Given the description of an element on the screen output the (x, y) to click on. 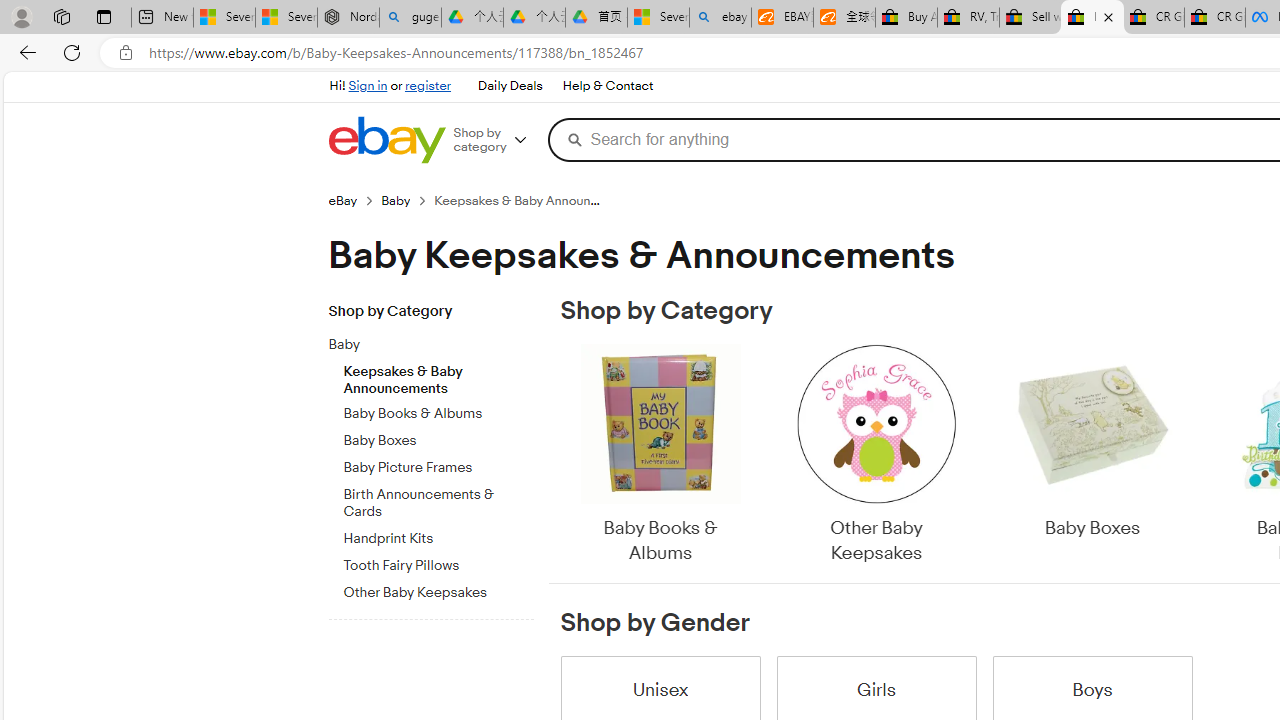
Shop by category (496, 140)
Birth Announcements & Cards (438, 500)
Help & Contact (607, 86)
eBay Home (386, 139)
Baby Keepsakes & Announcements for sale | eBay (1092, 17)
Tooth Fairy Pillows (438, 562)
Sign in (367, 85)
Baby Books & Albums (660, 455)
Baby Picture Frames (438, 464)
Baby (438, 341)
Buy Auto Parts & Accessories | eBay (905, 17)
Help & Contact (606, 85)
Birth Announcements & Cards (438, 504)
Tooth Fairy Pillows (438, 566)
